Given the description of an element on the screen output the (x, y) to click on. 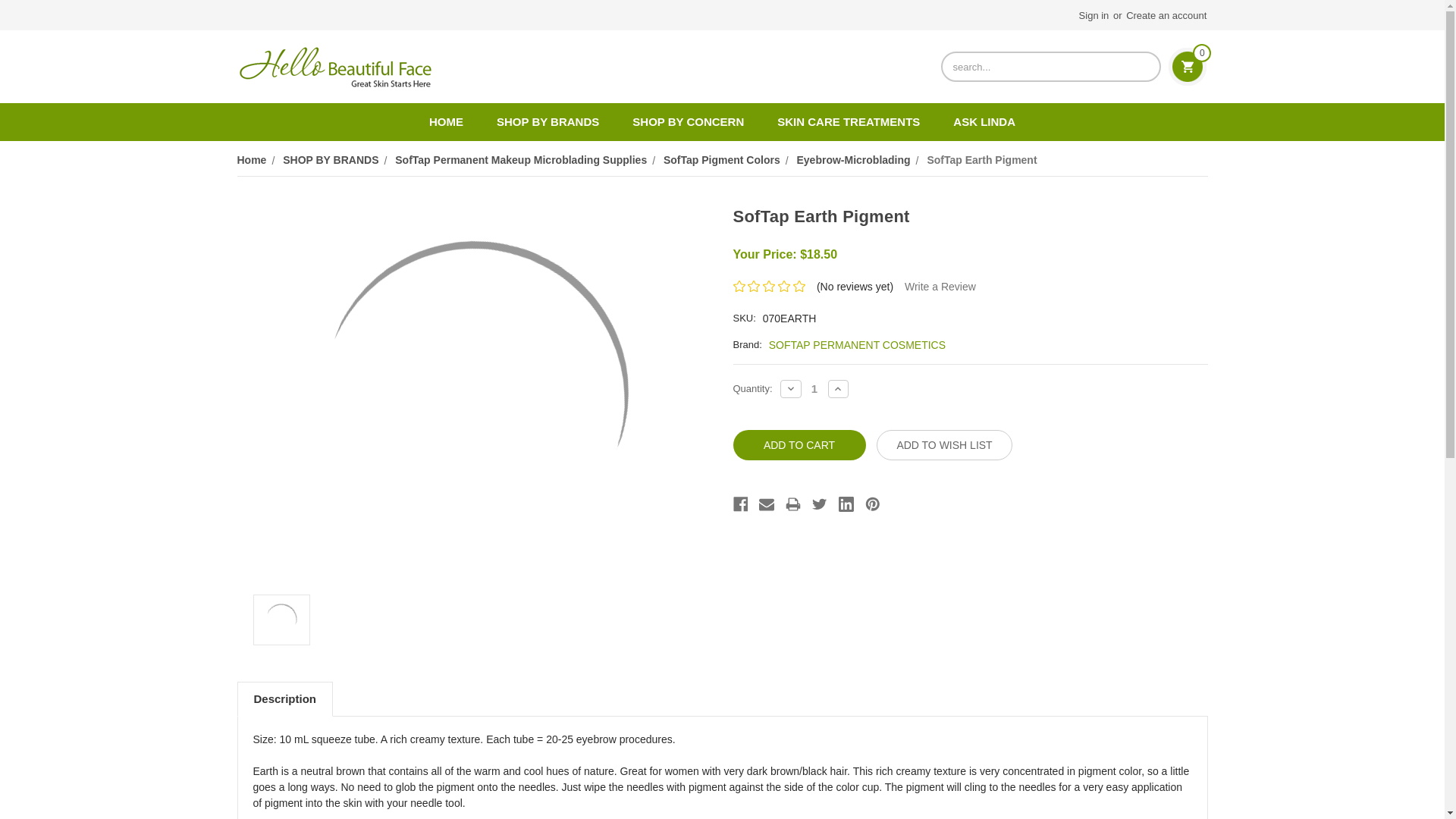
HOME (446, 121)
Sign in (1085, 15)
1 (813, 388)
Hello Beautiful Face (333, 66)
0 (1188, 66)
Create an account (1166, 15)
SofTap Earth Pigment (280, 619)
Add to Cart (798, 444)
